Given the description of an element on the screen output the (x, y) to click on. 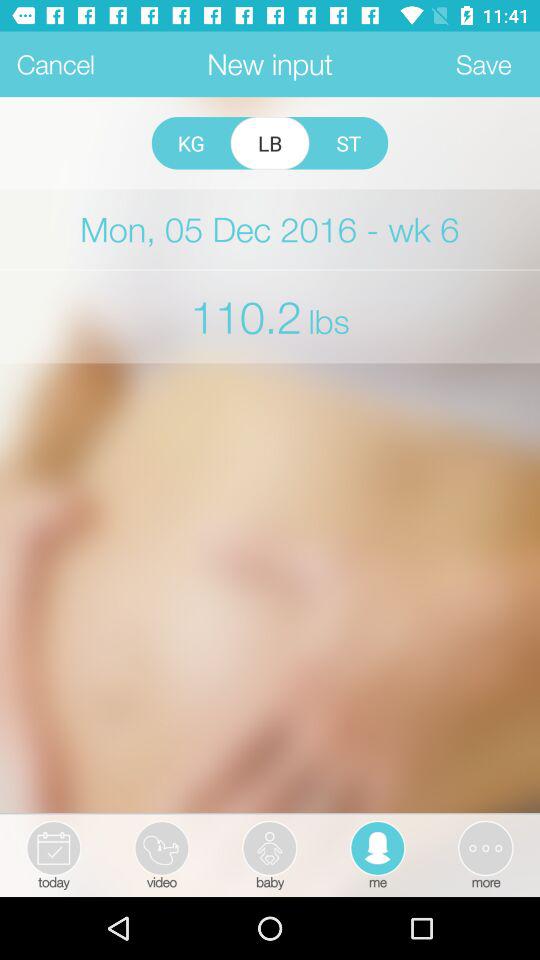
choose radio button next to kg item (269, 143)
